Given the description of an element on the screen output the (x, y) to click on. 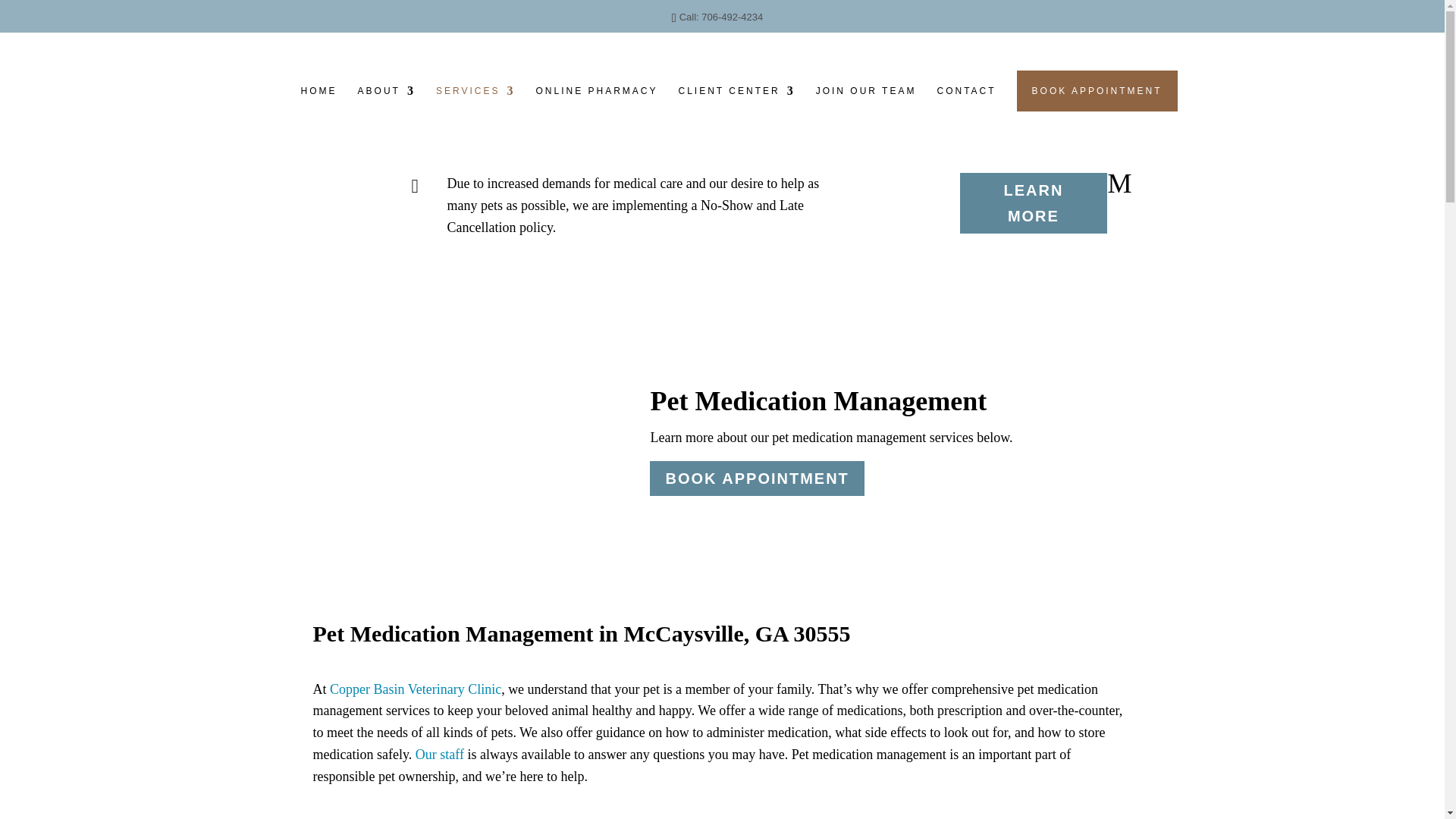
CLIENT CENTER (736, 98)
SERVICES (475, 98)
Call: 706-492-4234 (720, 16)
ONLINE PHARMACY (596, 98)
Copper Basin Veterinary Clinic (415, 688)
BOOK APPOINTMENT (1096, 90)
ABOUT (386, 98)
CONTACT (965, 98)
HOME (319, 98)
LEARN MORE (1032, 202)
